Given the description of an element on the screen output the (x, y) to click on. 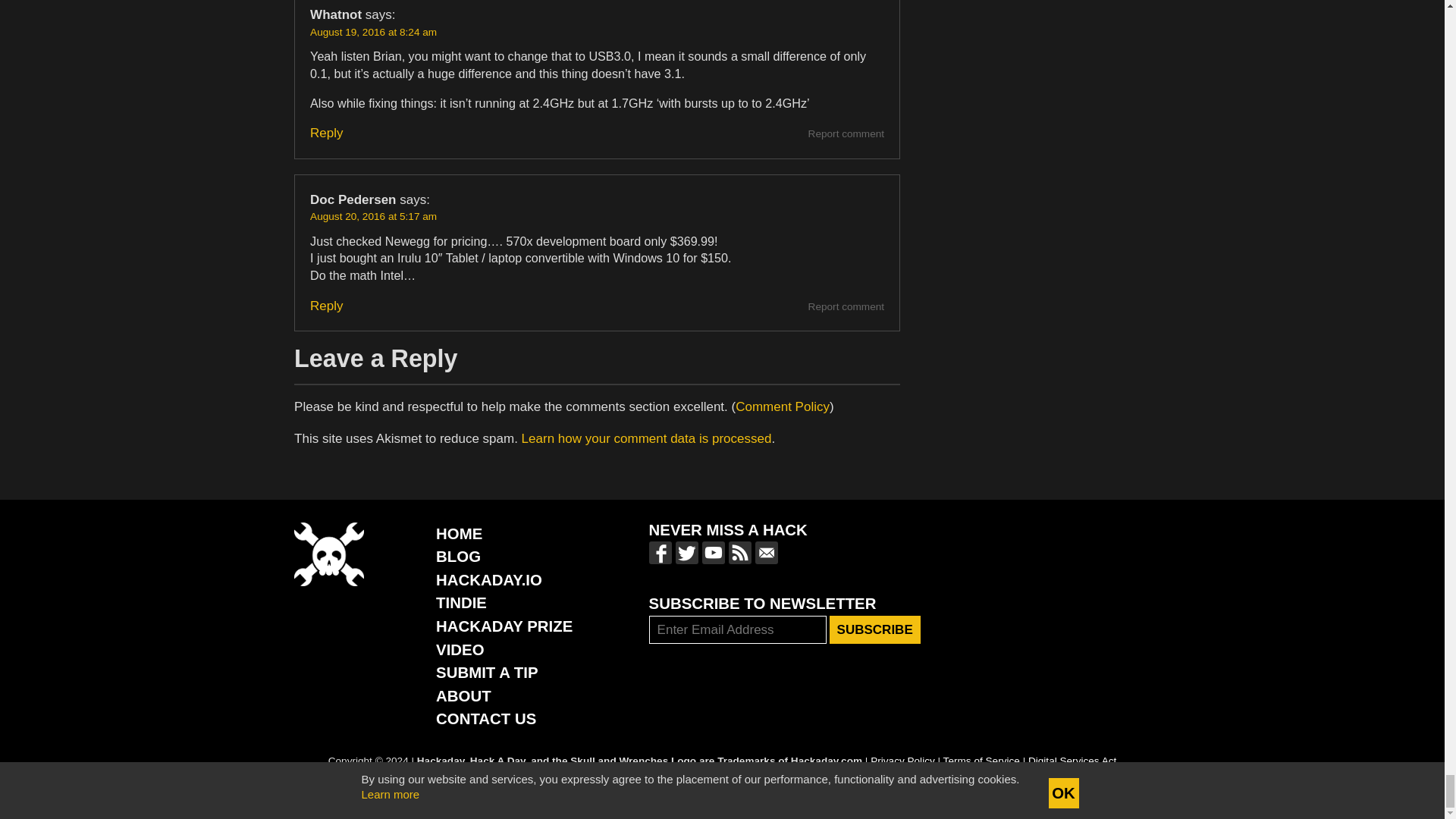
Subscribe (874, 629)
Build Something that Matters (503, 626)
